Given the description of an element on the screen output the (x, y) to click on. 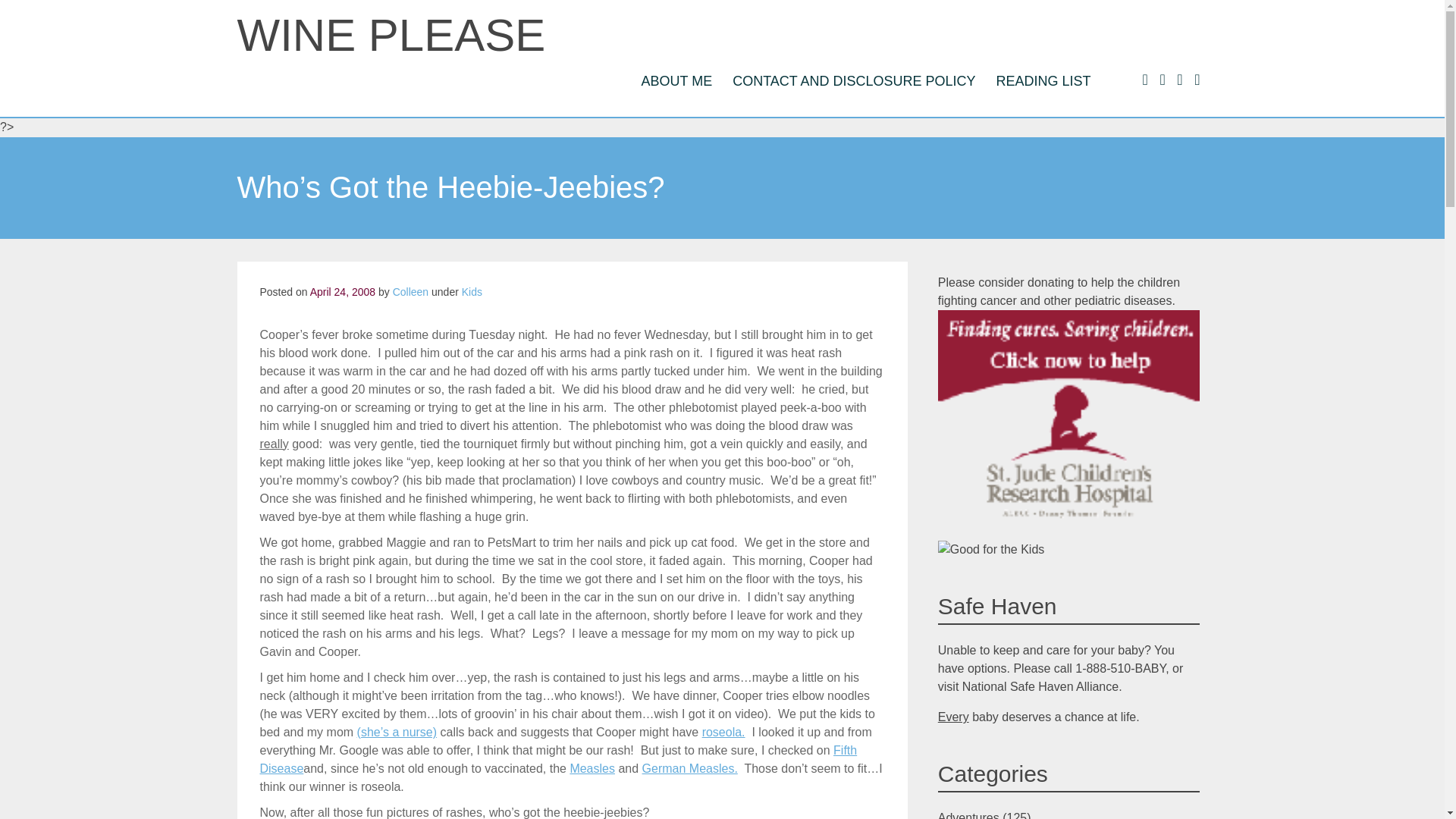
roseola (723, 731)
Kids (471, 291)
measles (591, 768)
st. francis (397, 731)
Colleen (410, 291)
WINE PLEASE (389, 34)
roseola. (723, 731)
German Measles. (690, 768)
ABOUT ME (676, 80)
Measles (591, 768)
